Given the description of an element on the screen output the (x, y) to click on. 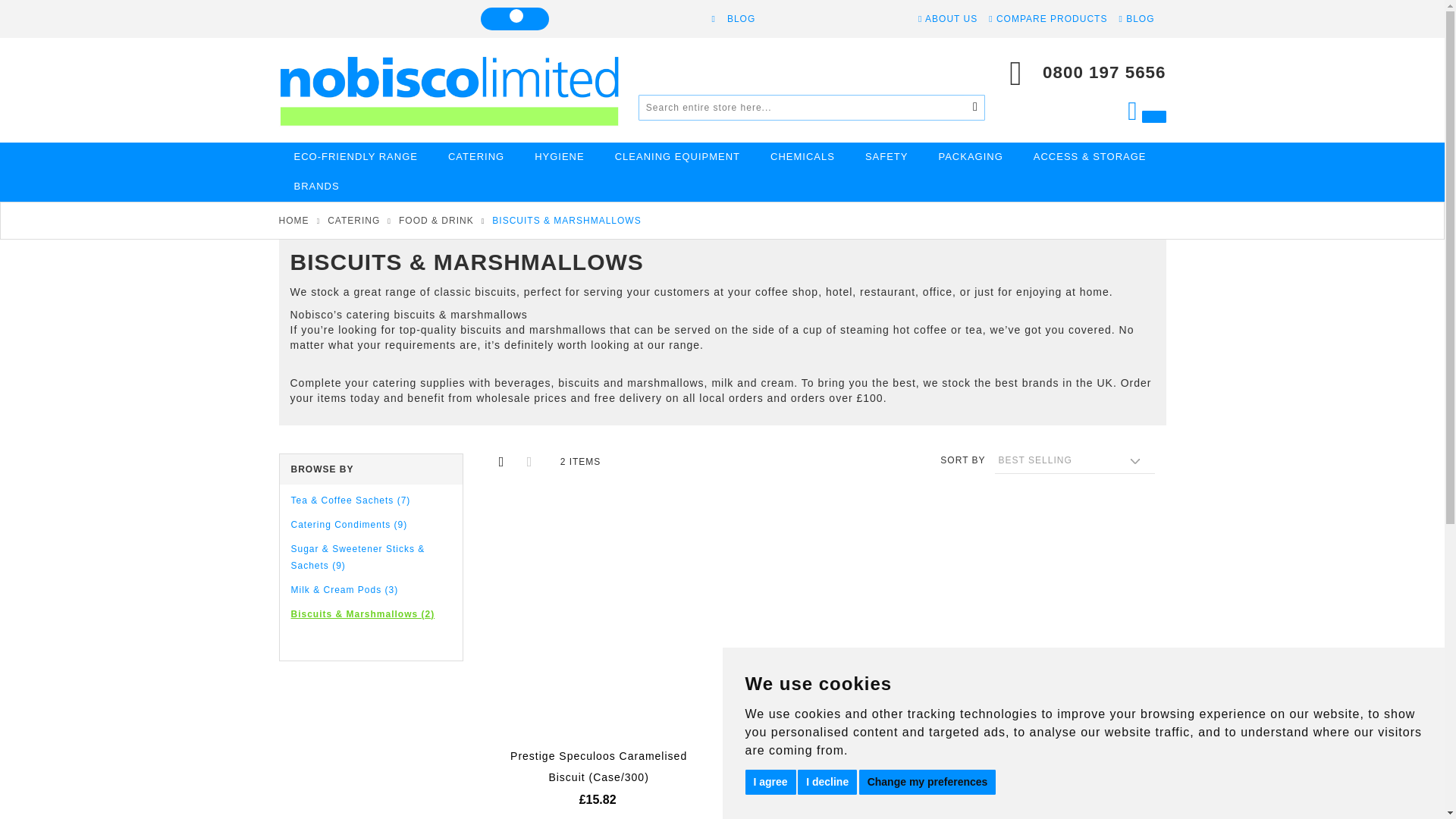
BLOG (1136, 19)
Change my preferences (927, 781)
COMPARE PRODUCTS (1047, 19)
ABOUT US (947, 19)
I decline (827, 781)
Catering Condiments (349, 524)
Grid (501, 461)
BLOG (740, 19)
Customer reviews powered by Trustpilot (365, 16)
CATERING (475, 156)
